Given the description of an element on the screen output the (x, y) to click on. 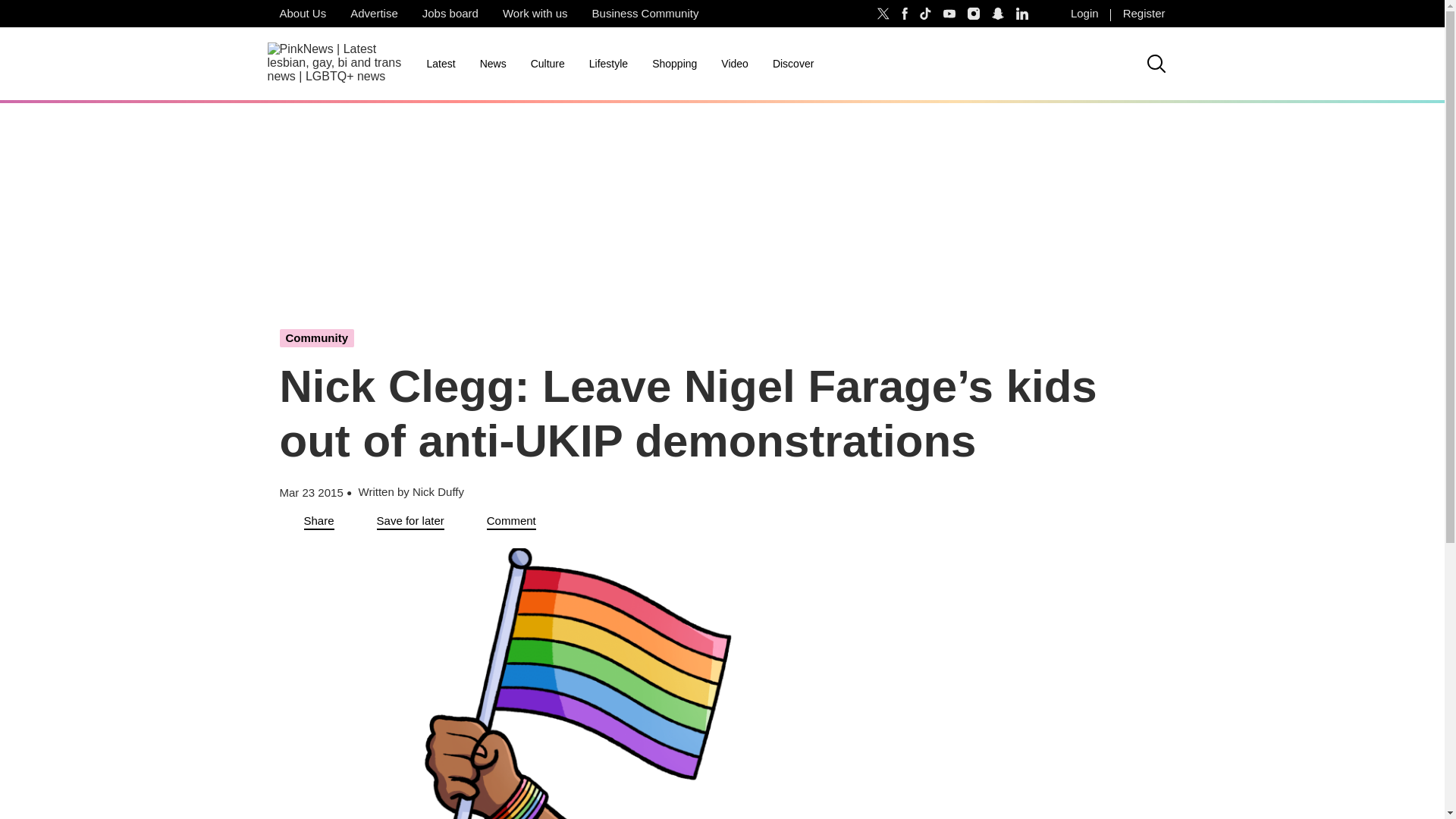
Culture (547, 63)
Advertise (373, 13)
Follow PinkNews on LinkedIn (1021, 13)
About Us (301, 13)
Business Community (645, 13)
News (493, 63)
Latest (440, 63)
Login (1084, 13)
Jobs board (450, 13)
Work with us (534, 13)
